Given the description of an element on the screen output the (x, y) to click on. 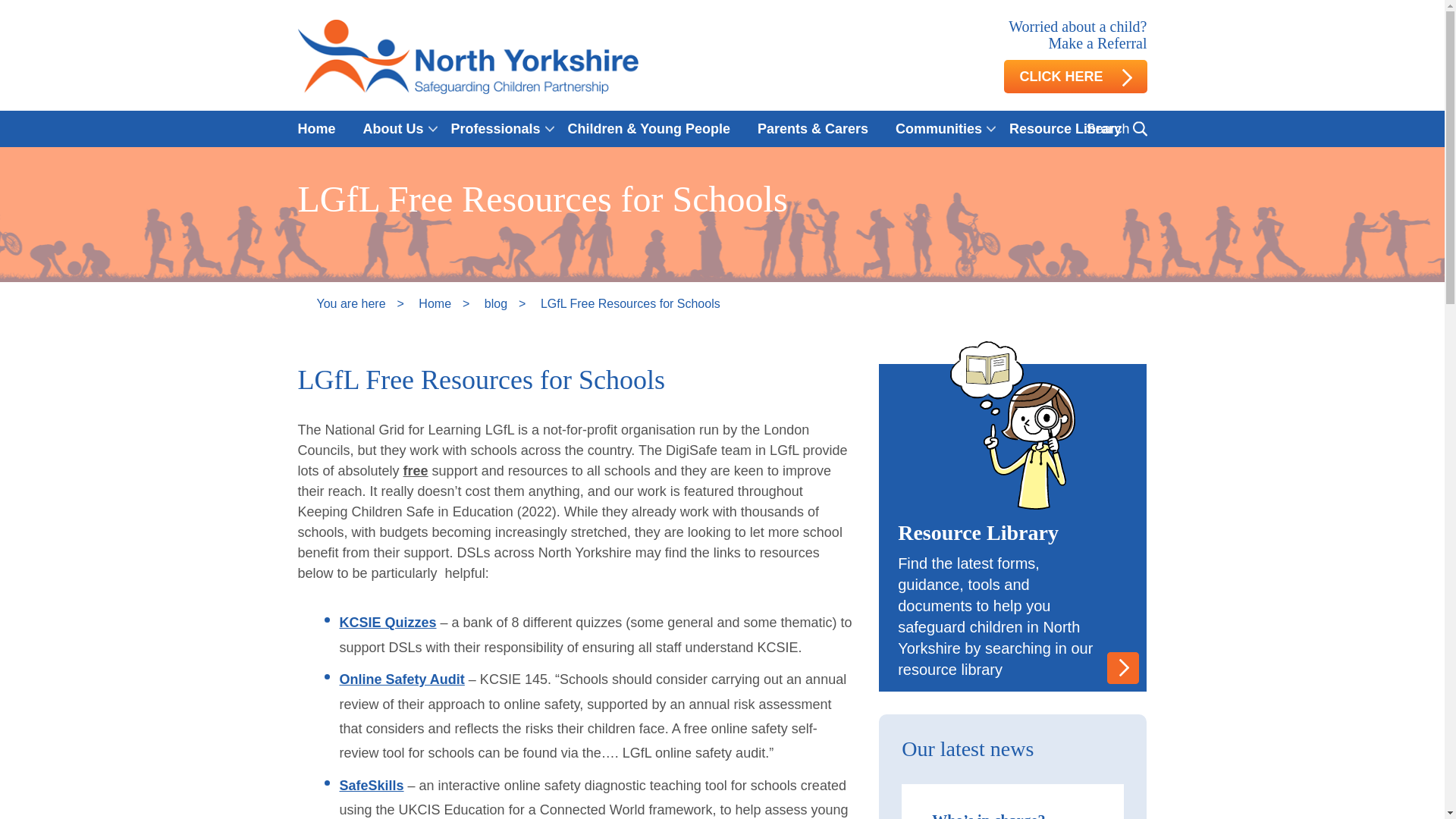
Resource Library (1065, 128)
LGfL Free Resources for Schools (630, 303)
blog (496, 303)
Professionals (496, 128)
Home (434, 303)
Communities (938, 128)
Home (323, 128)
You are here (350, 303)
About Us (393, 128)
You are here (350, 303)
